Given the description of an element on the screen output the (x, y) to click on. 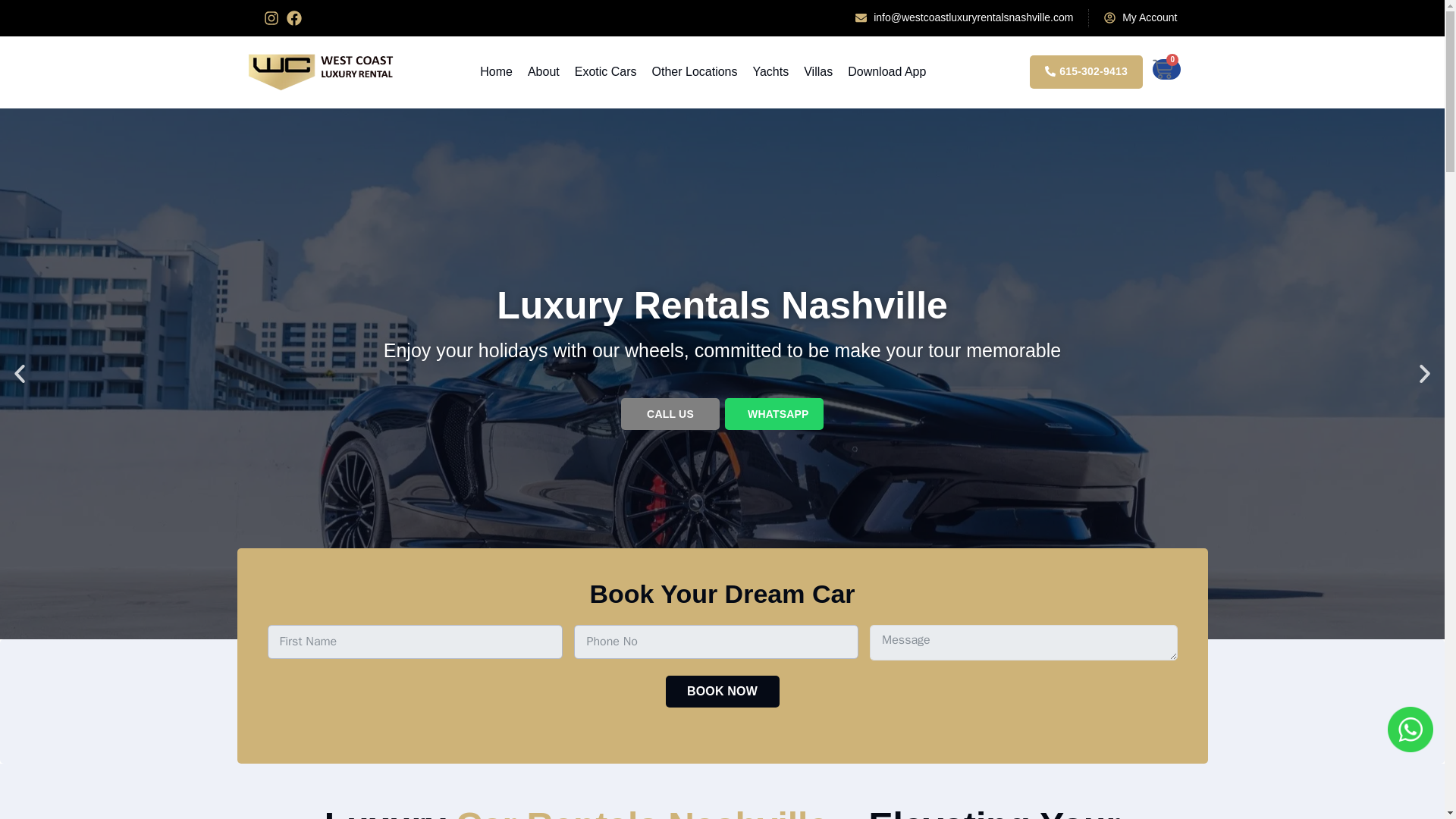
WHATSAPP (778, 413)
About (543, 71)
CALL US (670, 413)
Other Locations (694, 71)
Exotic Cars (605, 71)
My Account (1139, 18)
Download App (886, 71)
Villas (818, 71)
Home (495, 71)
0 (1166, 68)
CALL US (670, 413)
615-302-9413 (1085, 71)
WHATSAPP (774, 413)
Yachts (769, 71)
